Given the description of an element on the screen output the (x, y) to click on. 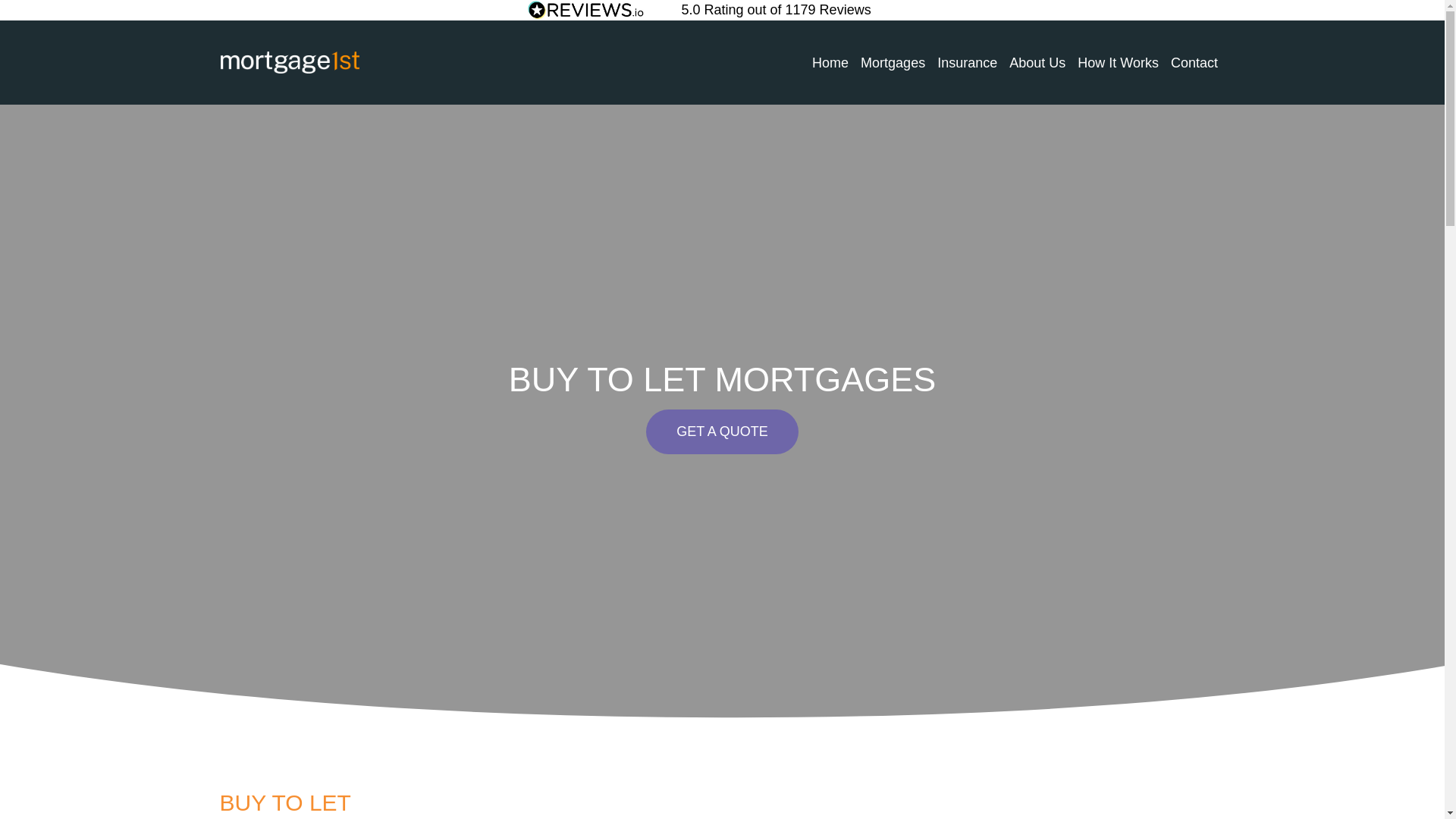
Mortgages (892, 62)
Contact (1194, 62)
Insurance (967, 62)
About Us (1037, 62)
How It Works (1117, 62)
Home (830, 62)
